Given the description of an element on the screen output the (x, y) to click on. 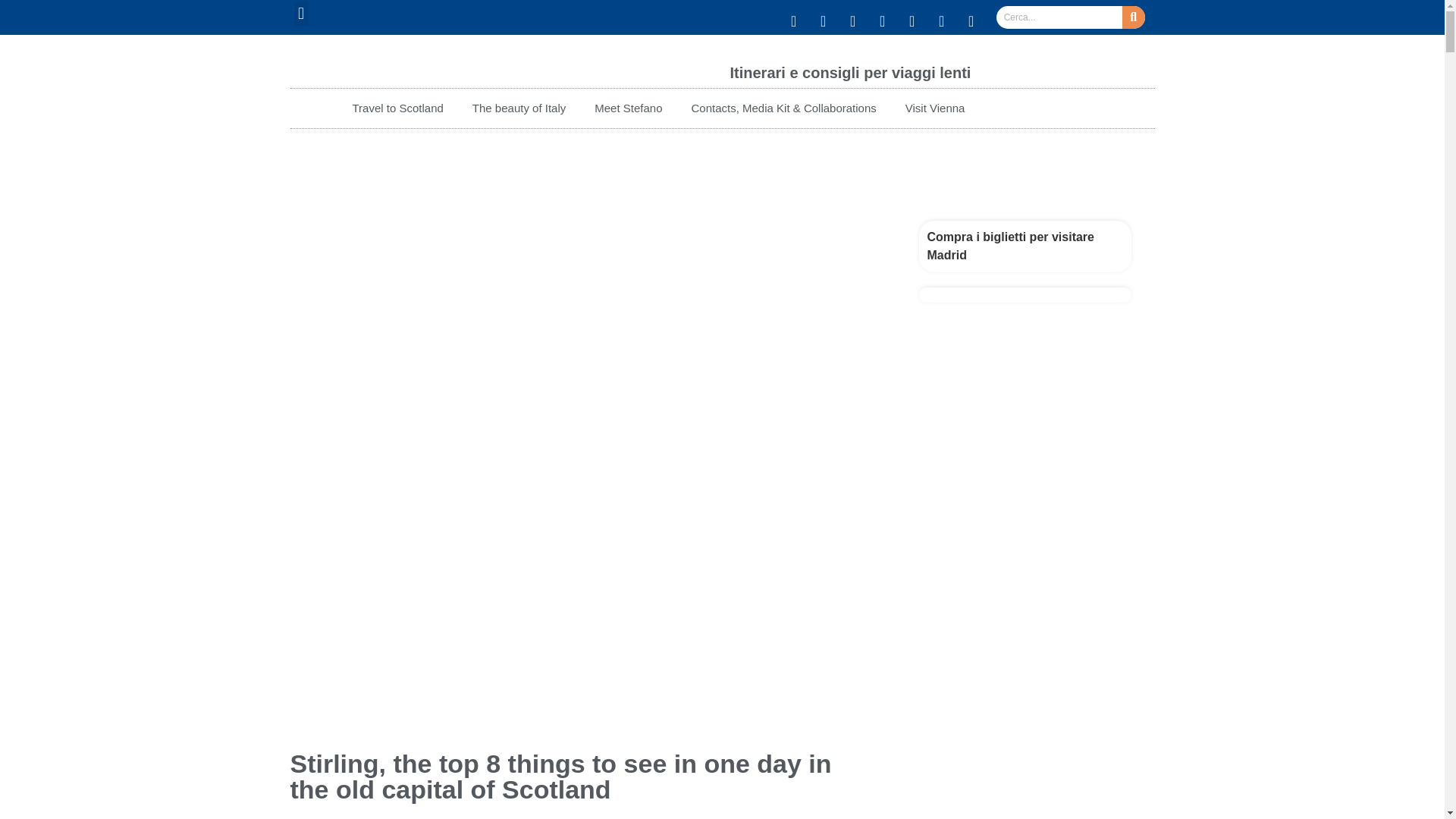
Visit Vienna (935, 107)
Travel to Scotland (397, 107)
The beauty of Italy (518, 107)
Meet Stefano (628, 107)
